Given the description of an element on the screen output the (x, y) to click on. 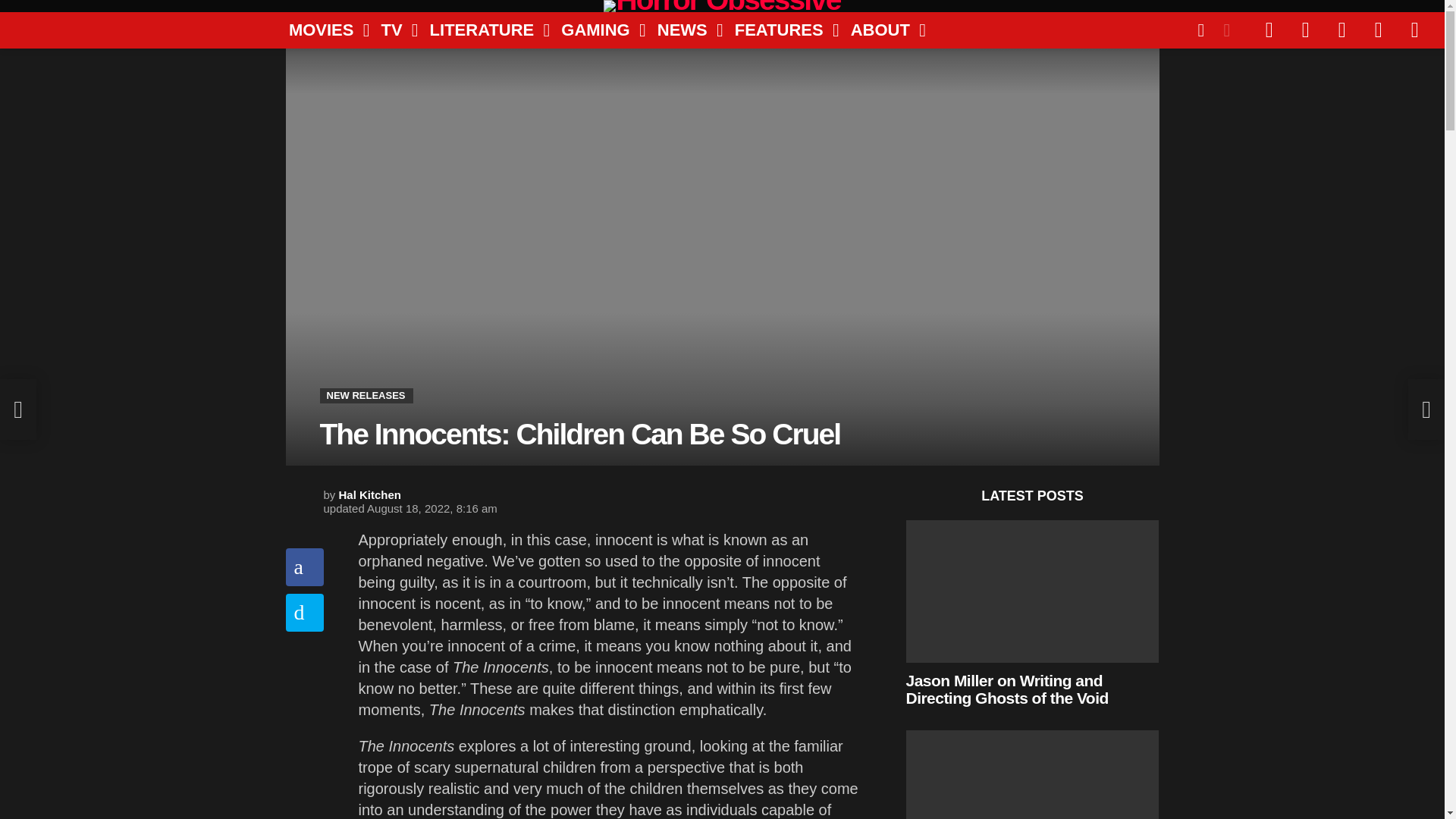
Jason Miller on Writing and Directing Ghosts of the Void (1031, 591)
Made in Your Image: Movie Review of The Craft: Legacy (1031, 774)
Posts by Hal Kitchen (370, 494)
Share on Twitter (304, 612)
MOVIES (323, 29)
TV (392, 29)
Share on Facebook (304, 566)
